Given the description of an element on the screen output the (x, y) to click on. 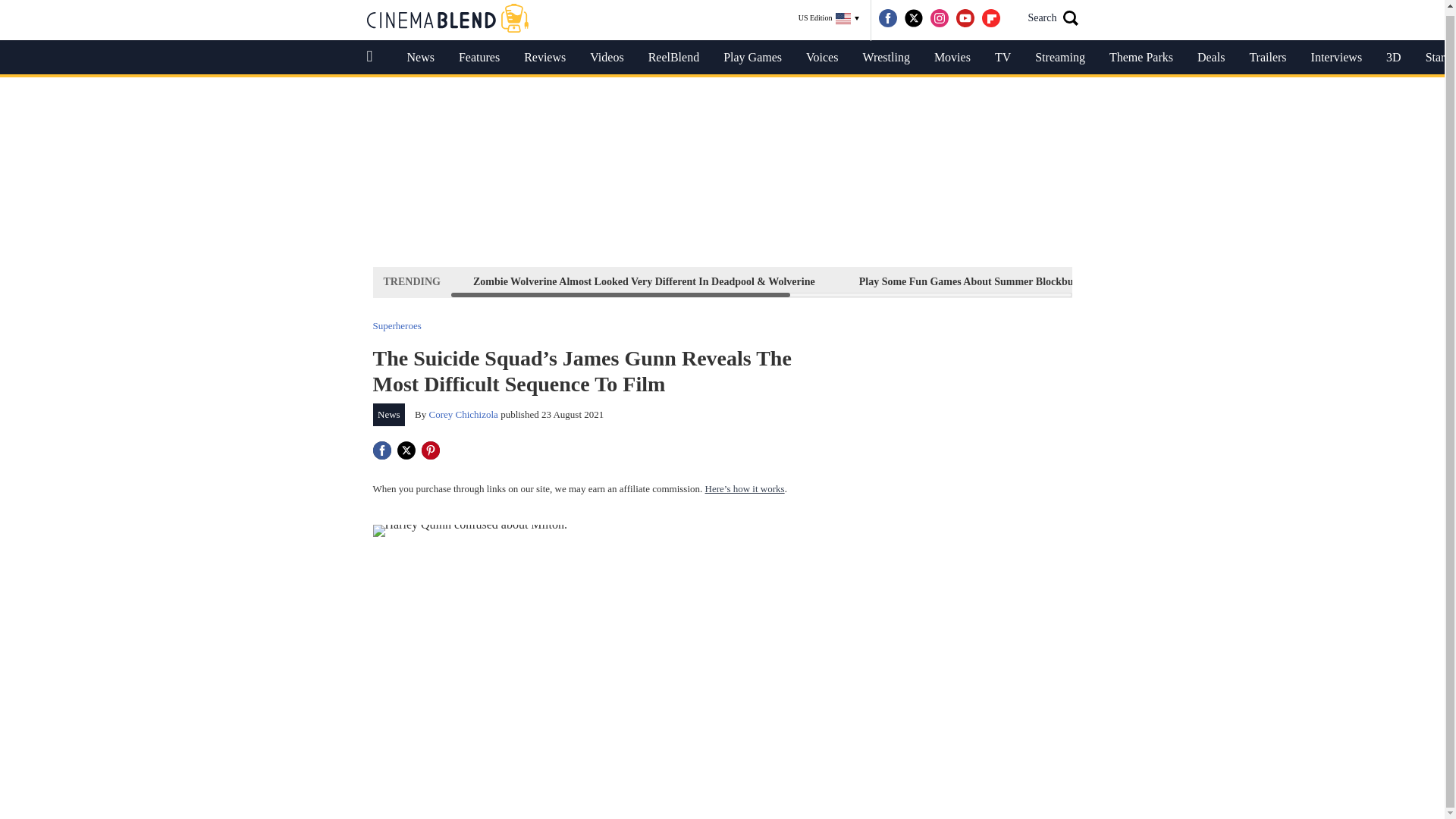
2024 Upcoming Movies (1191, 281)
News (419, 57)
Voices (821, 57)
Upcoming Marvel Movies (1346, 281)
Superheroes (397, 325)
Trailers (1267, 57)
Deals (1210, 57)
Play Games (752, 57)
Interviews (1336, 57)
Streaming (1060, 57)
